Given the description of an element on the screen output the (x, y) to click on. 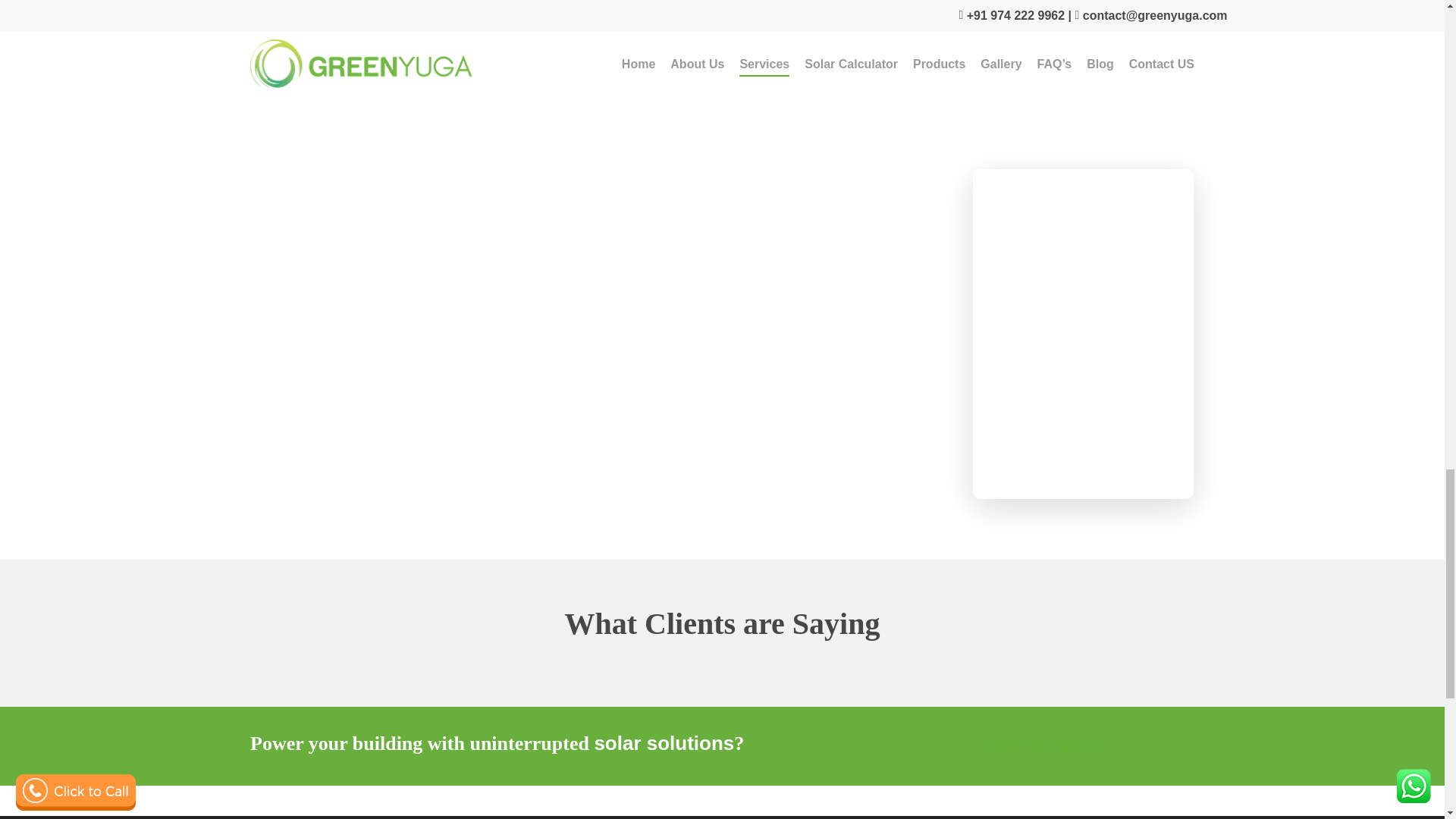
GET A FREE QUOTE (1043, 745)
